Given the description of an element on the screen output the (x, y) to click on. 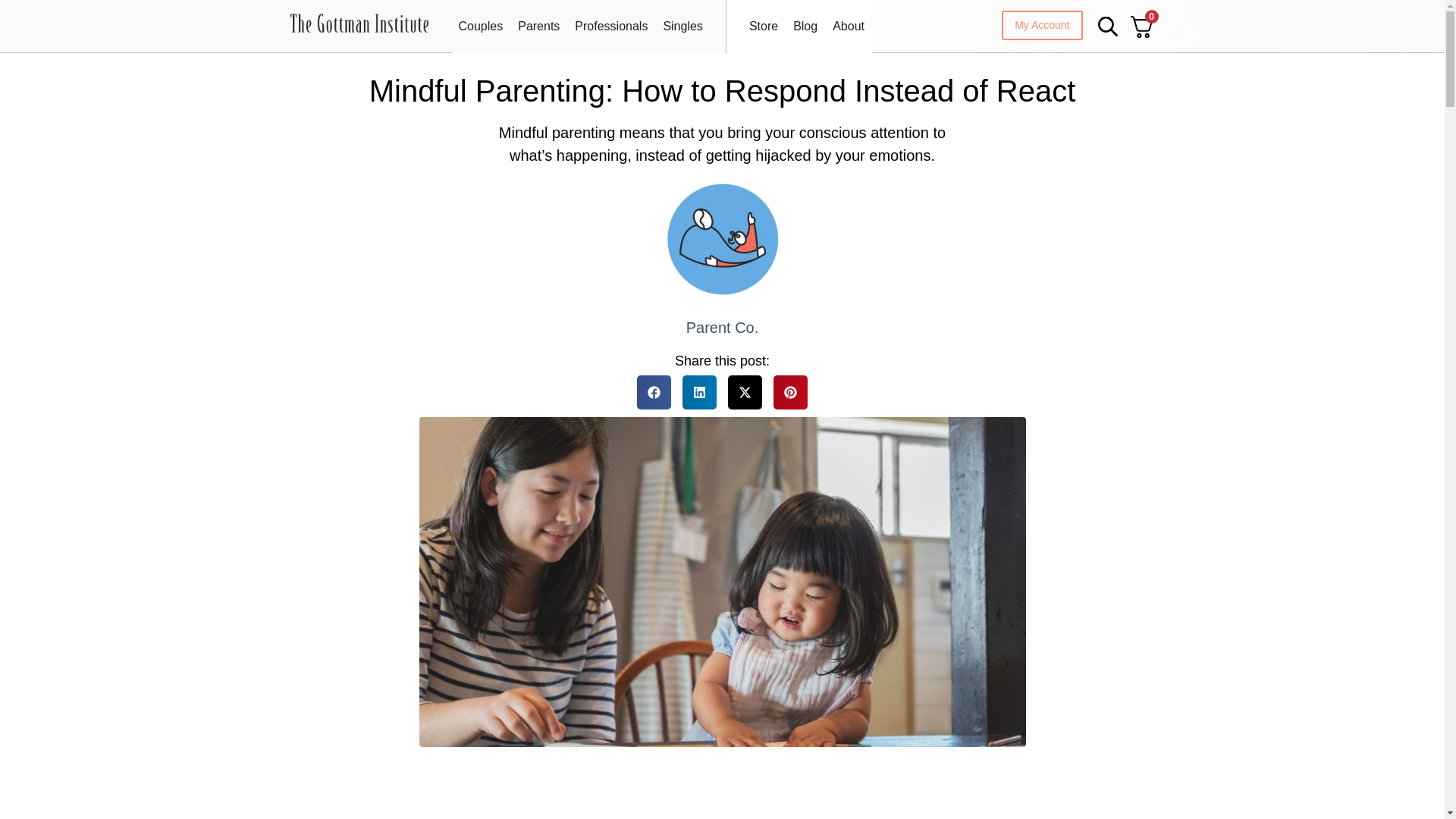
Couples (480, 25)
Parents (538, 25)
Professionals (611, 25)
